Given the description of an element on the screen output the (x, y) to click on. 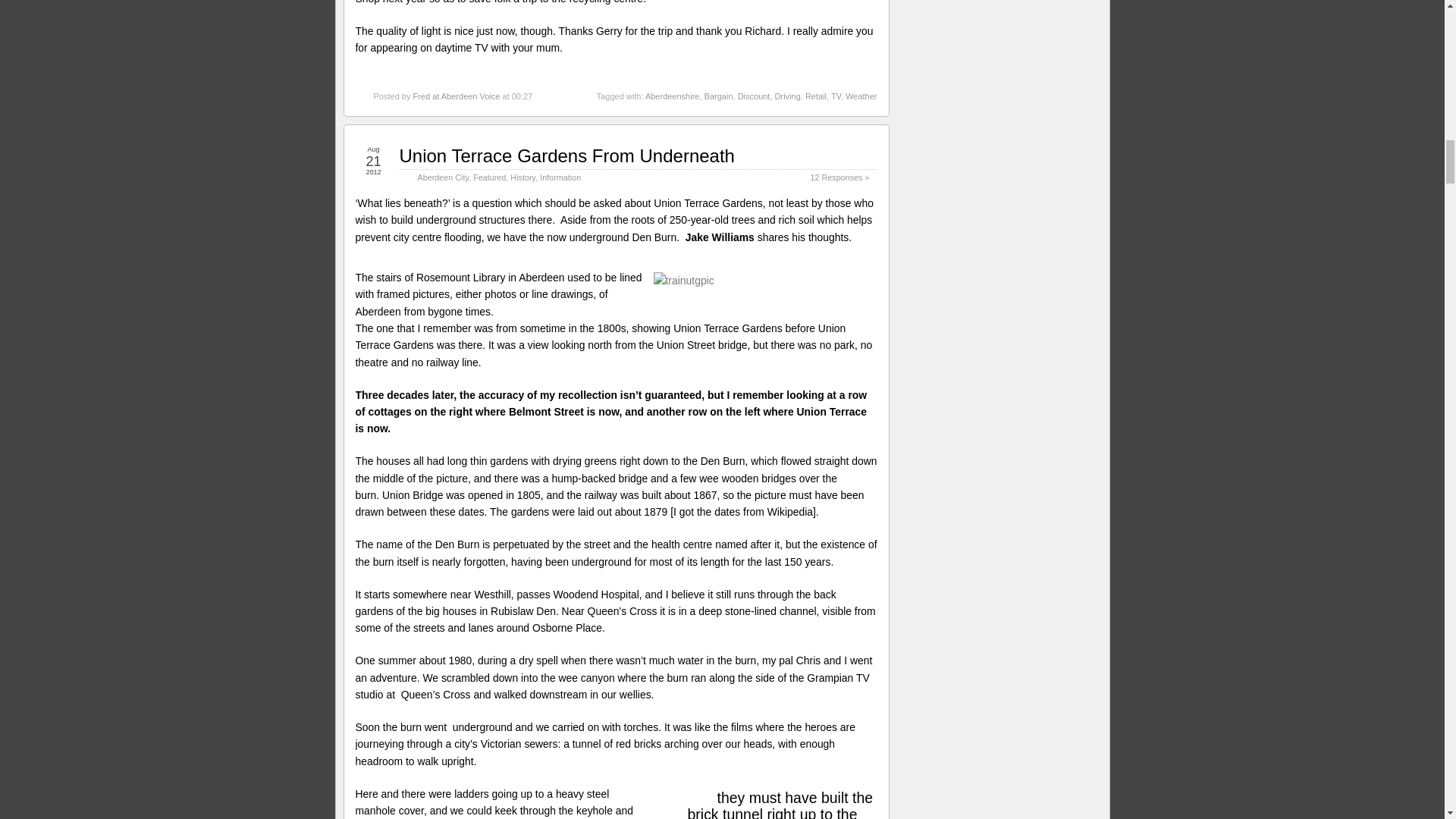
Aberdeenshire (672, 95)
Retail (816, 95)
Featured (489, 176)
trainutgpic (766, 280)
TV (836, 95)
Driving (787, 95)
Bargain (718, 95)
Union Terrace Gardens From Underneath (565, 155)
Union Terrace Gardens From Underneath (565, 155)
History (523, 176)
